Given the description of an element on the screen output the (x, y) to click on. 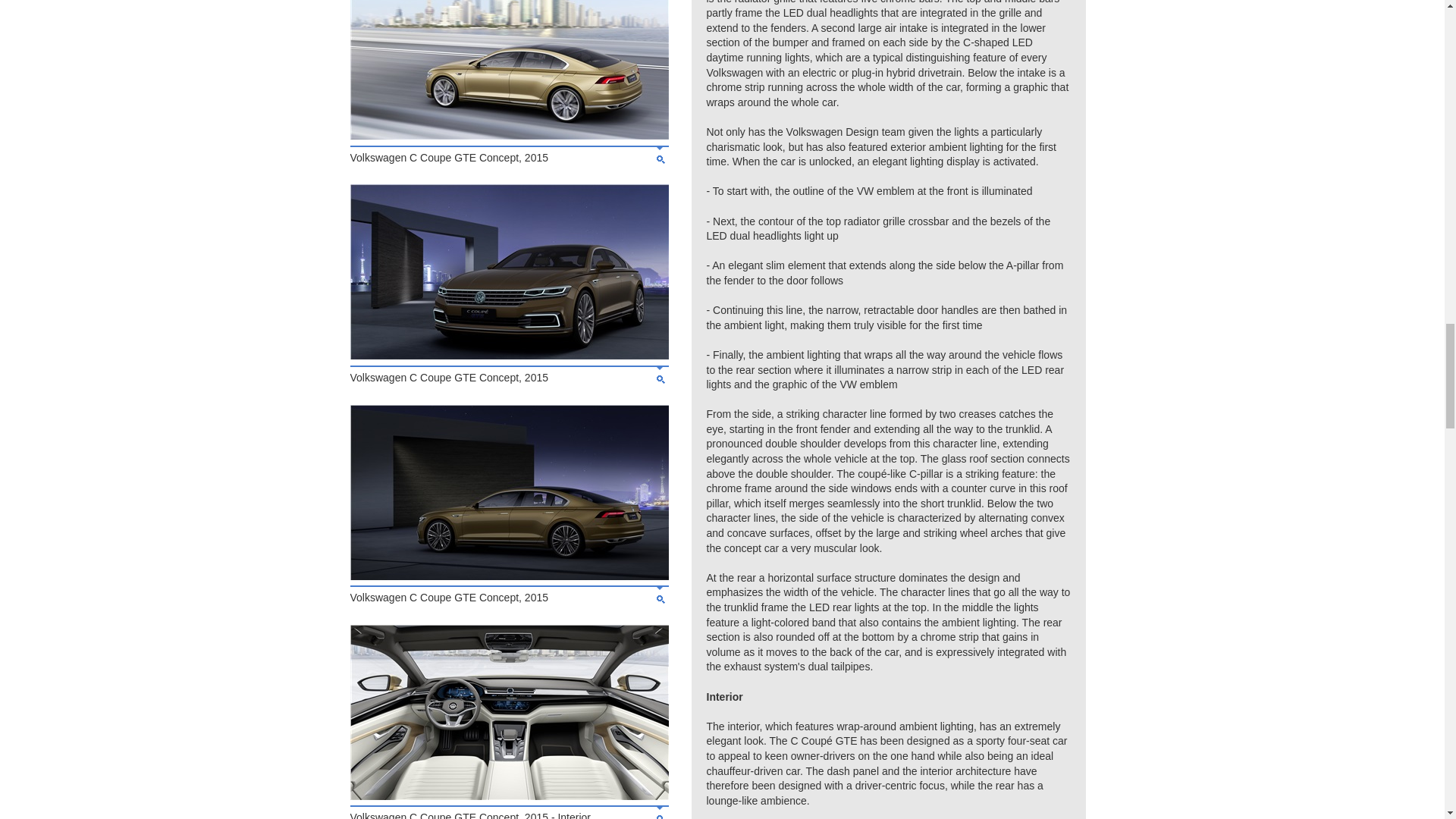
Volkswagen C Coupe GTE Concept, 2015 - Interior (509, 796)
Volkswagen C Coupe GTE Concept, 2015 (509, 135)
Volkswagen C Coupe GTE Concept, 2015 (509, 576)
Volkswagen C Coupe GTE Concept, 2015 (509, 355)
